Given the description of an element on the screen output the (x, y) to click on. 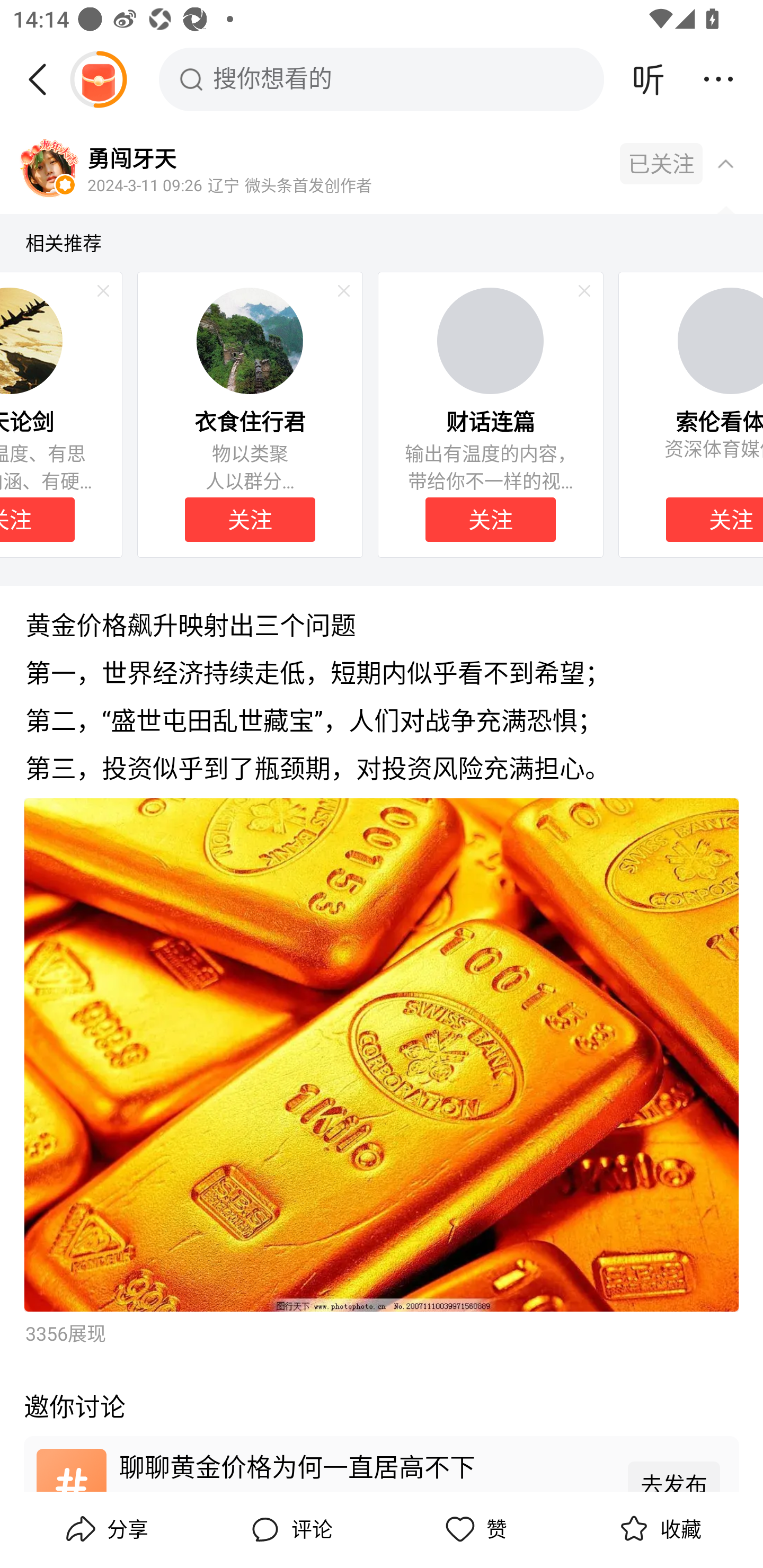
返回 (44, 78)
听头条 (648, 78)
更多操作 (718, 78)
搜你想看的 搜索框，搜你想看的 (381, 79)
阅读赚金币 (98, 79)
勇闯牙天 (131, 157)
已关注 (660, 163)
勇闯牙天头像 (48, 169)
折叠相关作者推荐 (725, 162)
不感兴趣 (102, 290)
不感兴趣 (344, 290)
财话连篇头像 财话连篇 输出有温度的内容，带给你不一样的视角！ 关注 关注 不感兴趣 (490, 414)
不感兴趣 (584, 290)
索伦看体育头像 索伦看体育 资深体育媒体人 关注 关注 (690, 414)
衣食住行君头像 (249, 339)
关注 (249, 519)
关注 (249, 519)
关注 (490, 519)
关注 (714, 519)
内容图片 (381, 1055)
聊聊黄金价格为何一直居高不下:说说你的看法::按钮 (381, 1463)
分享 (104, 1529)
评论, 评论 (288, 1529)
,收藏 收藏 (658, 1529)
